Given the description of an element on the screen output the (x, y) to click on. 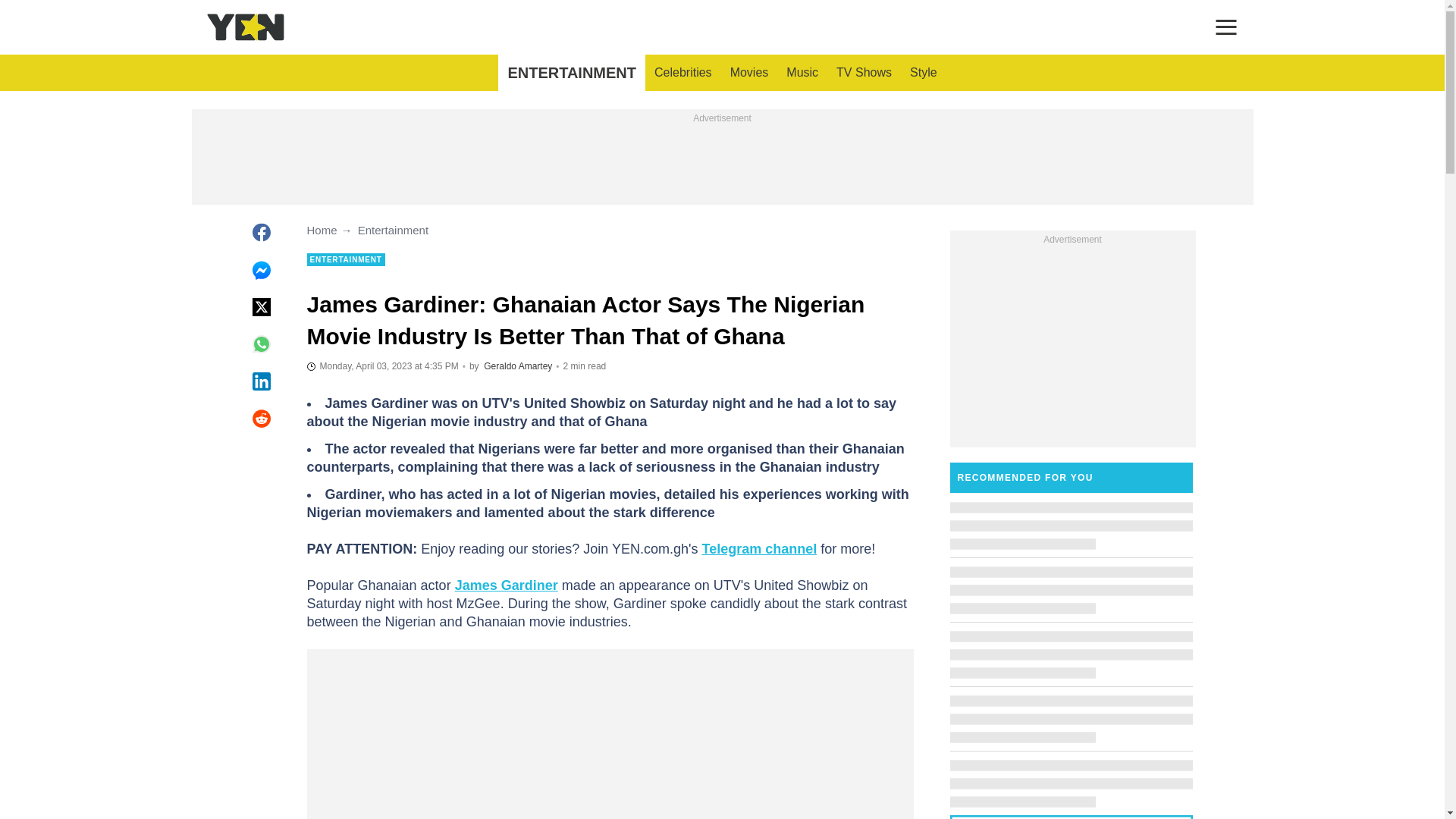
Style (923, 72)
2023-04-03T16:35:57Z (381, 366)
Movies (748, 72)
Celebrities (682, 72)
TV Shows (864, 72)
ENTERTAINMENT (571, 72)
Author page (517, 366)
Music (802, 72)
